Given the description of an element on the screen output the (x, y) to click on. 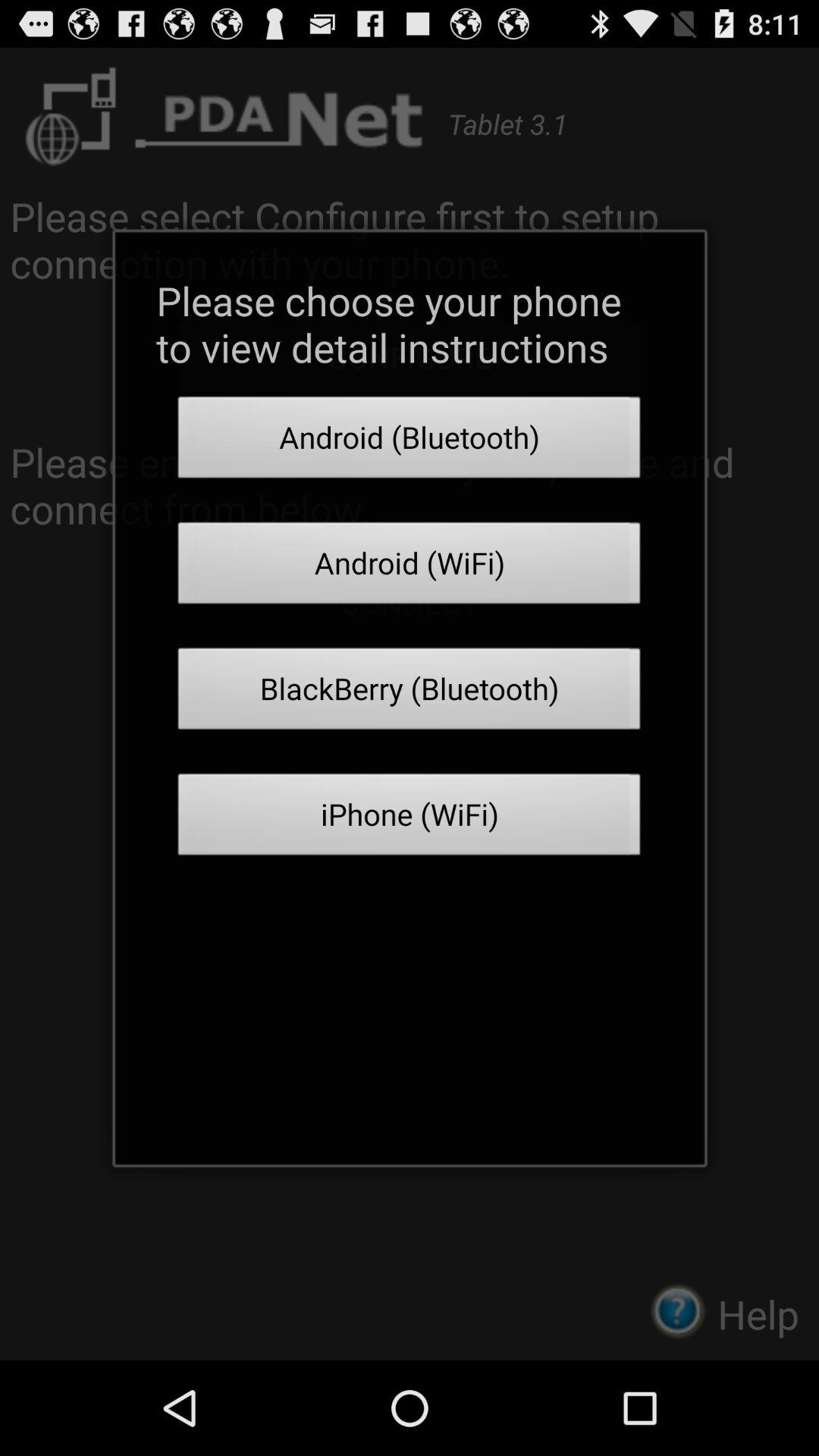
choose the android (wifi) item (409, 567)
